Given the description of an element on the screen output the (x, y) to click on. 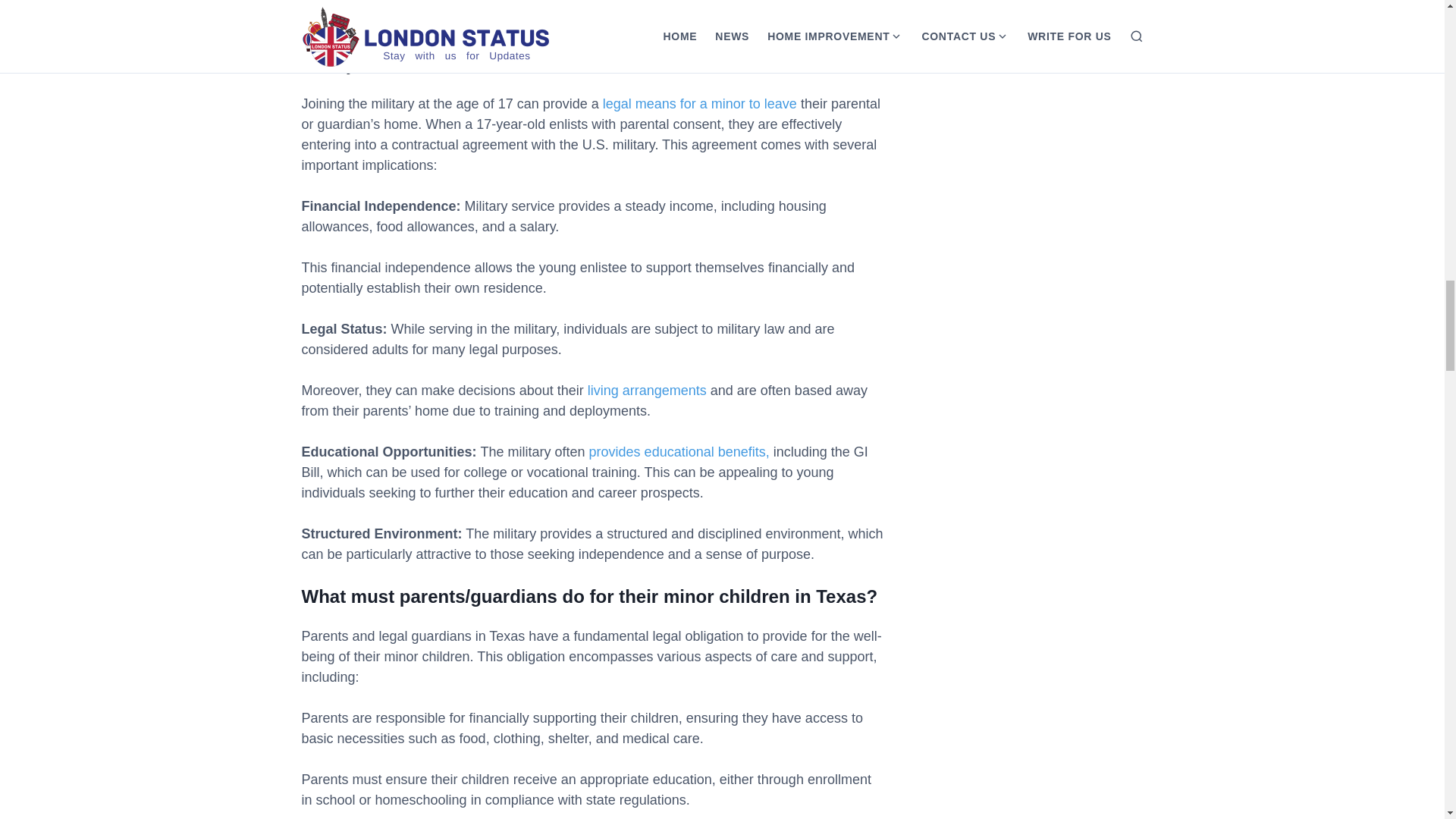
provides educational benefits, (677, 451)
living arrangements (647, 390)
legal means for a minor to leave (699, 103)
